Given the description of an element on the screen output the (x, y) to click on. 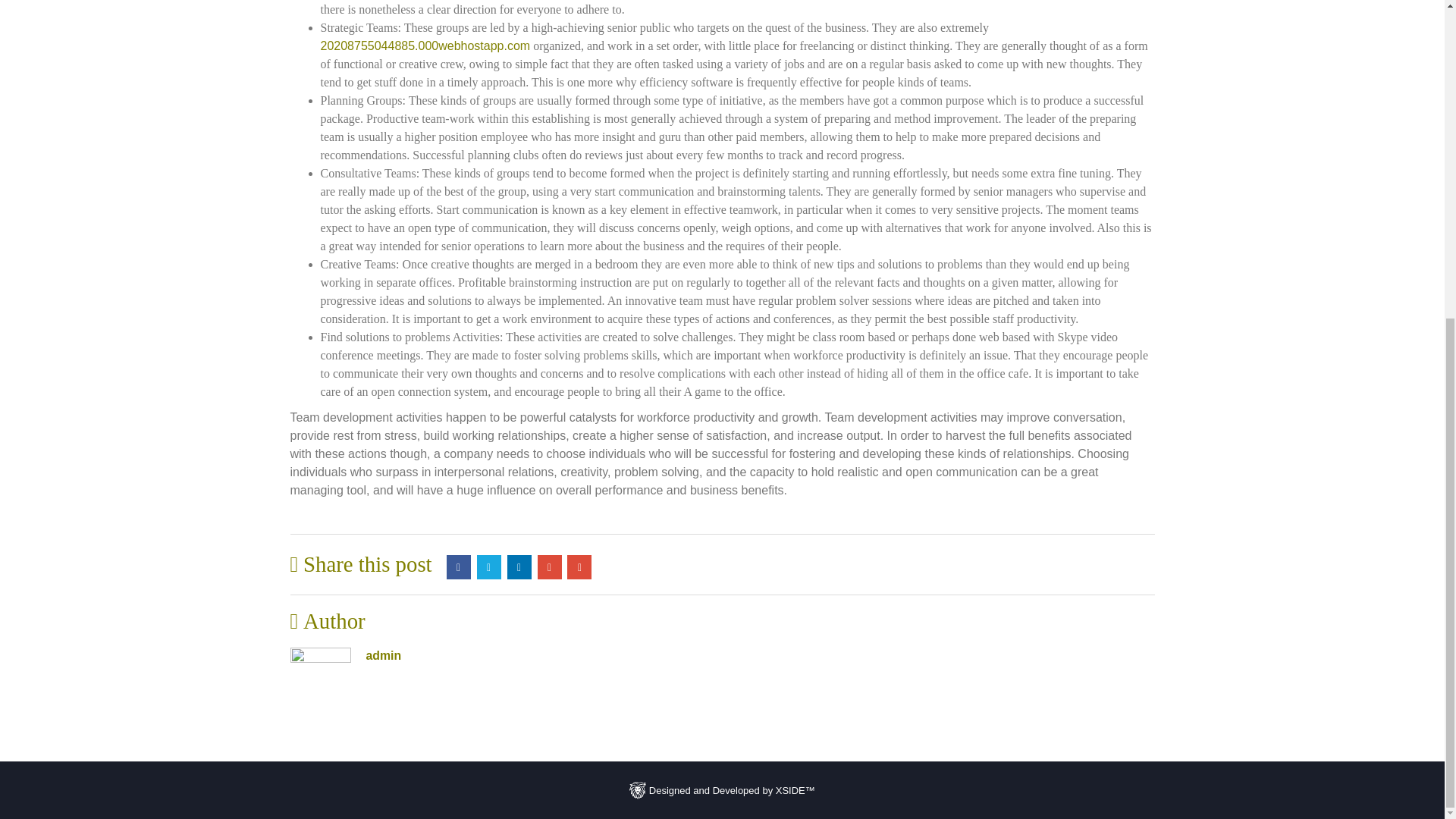
www.xside.ee (637, 790)
admin (383, 655)
LinkedIn (518, 567)
Email (579, 567)
20208755044885.000webhostapp.com (424, 45)
www.xside.ee (721, 789)
Twitter (488, 567)
Facebook (458, 567)
